Given the description of an element on the screen output the (x, y) to click on. 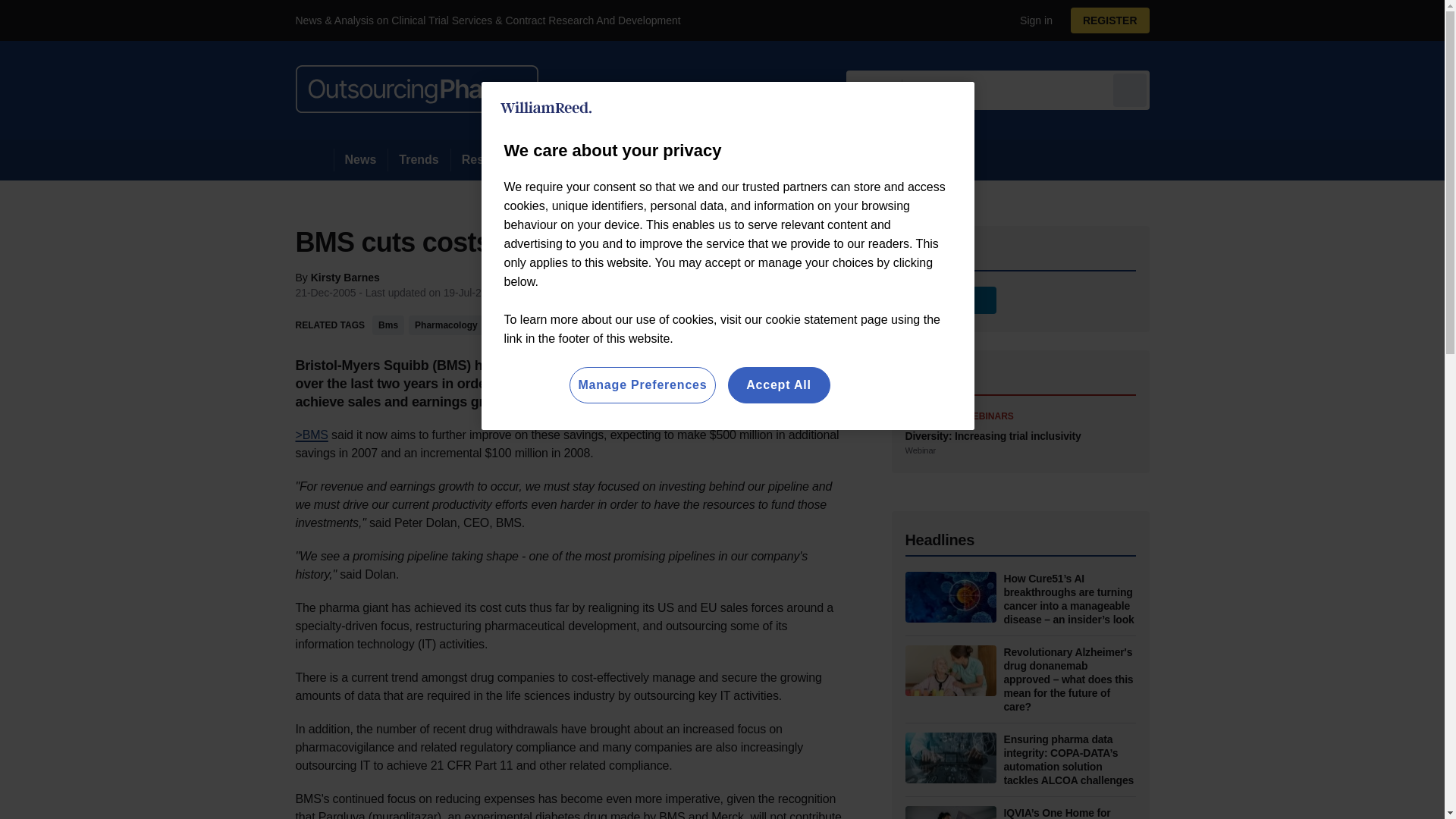
Send (1129, 89)
Home (314, 159)
Sign in (1029, 20)
Sign out (1032, 20)
Home (313, 159)
Trends (418, 159)
News (360, 159)
William Reed (545, 107)
OutsourcingPharma (416, 89)
Resources (492, 159)
Send (1129, 90)
My account (1114, 20)
REGISTER (1110, 20)
